Given the description of an element on the screen output the (x, y) to click on. 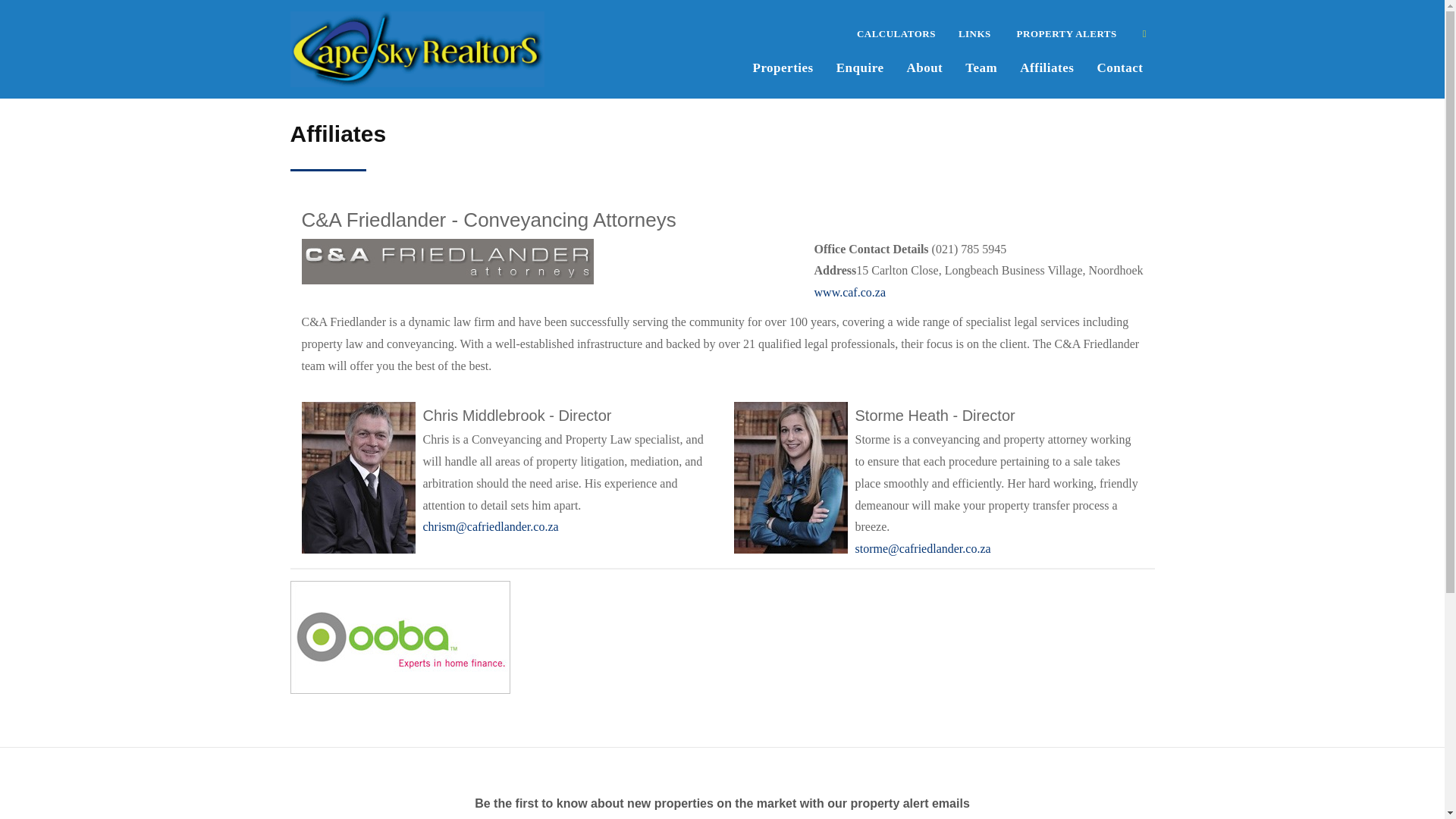
Cape Sky Realtors, Estate Agency Logo (416, 48)
Properties (783, 66)
Team (981, 66)
Affiliates (1046, 66)
CALCULATORS (896, 32)
www.caf.co.za (849, 291)
LINKS (975, 32)
Enquire (860, 66)
 PROPERTY ALERTS (1065, 32)
About (924, 66)
